Given the description of an element on the screen output the (x, y) to click on. 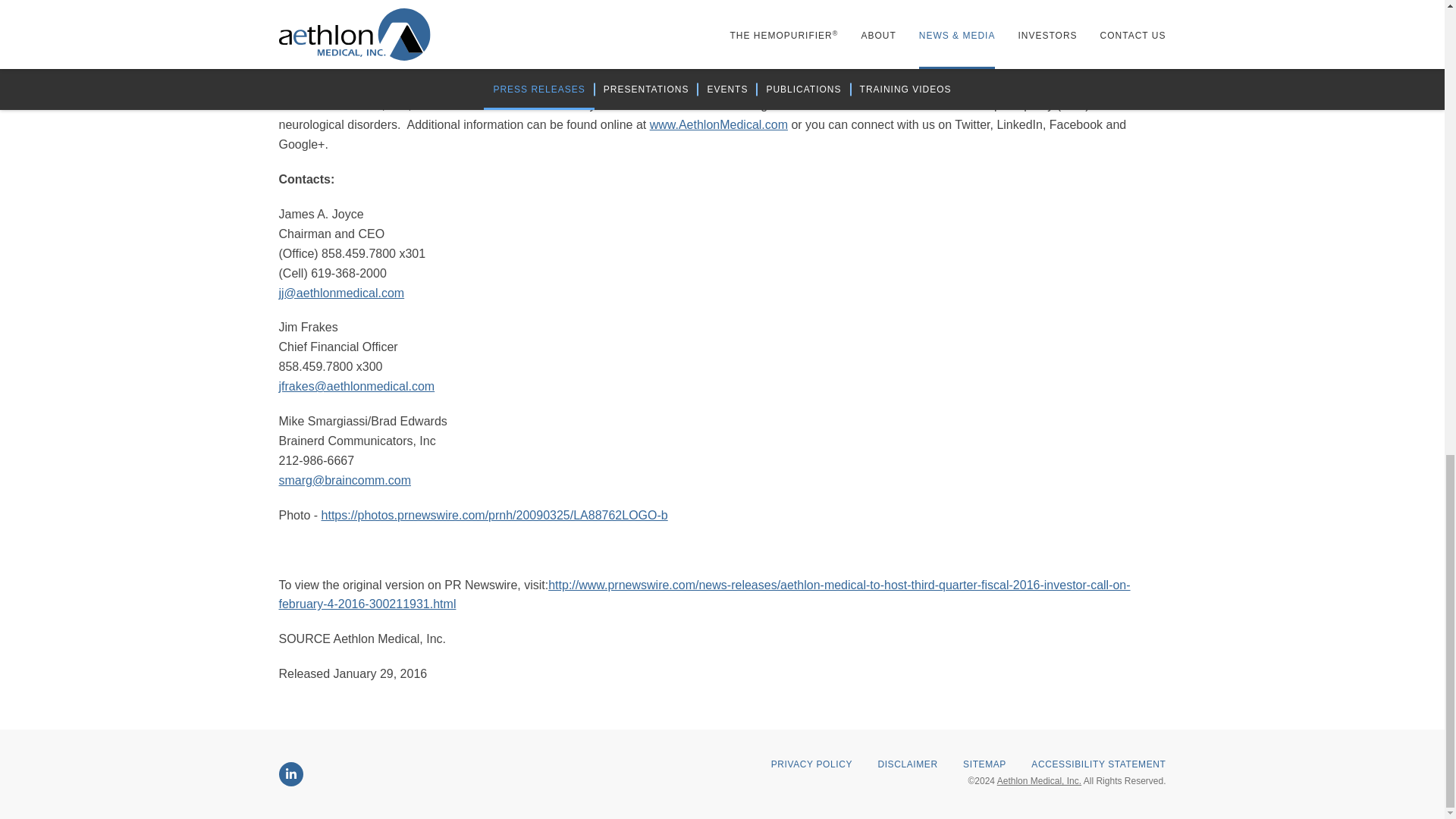
www.AethlonMedical.com (718, 124)
Opens in a new window (290, 774)
Opens in a new window (494, 514)
